Given the description of an element on the screen output the (x, y) to click on. 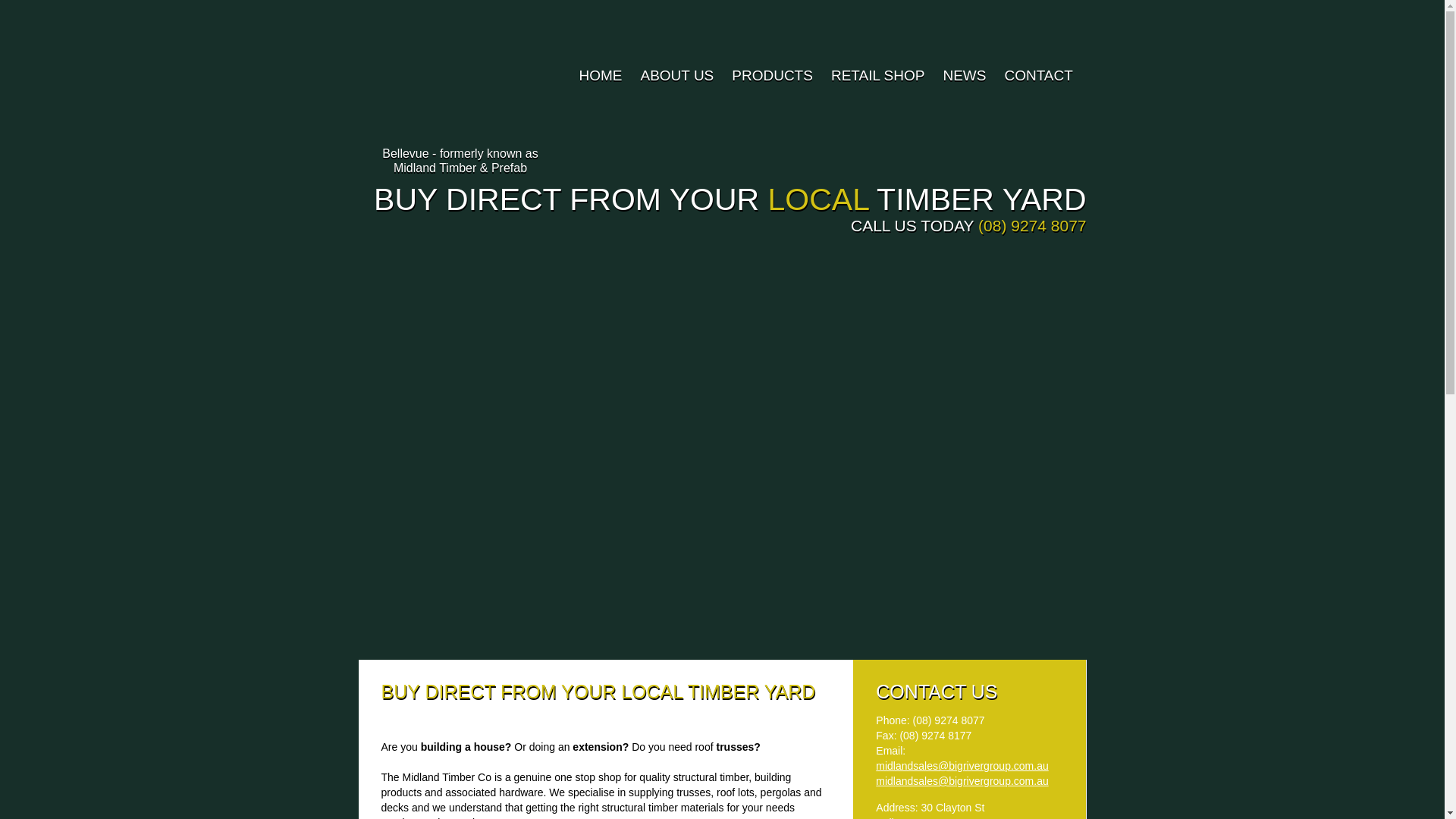
NEWS (962, 75)
PRODUCTS (770, 75)
CONTACT (1036, 75)
ABOUT US (675, 75)
HOME (599, 75)
RETAIL SHOP (877, 75)
